Given the description of an element on the screen output the (x, y) to click on. 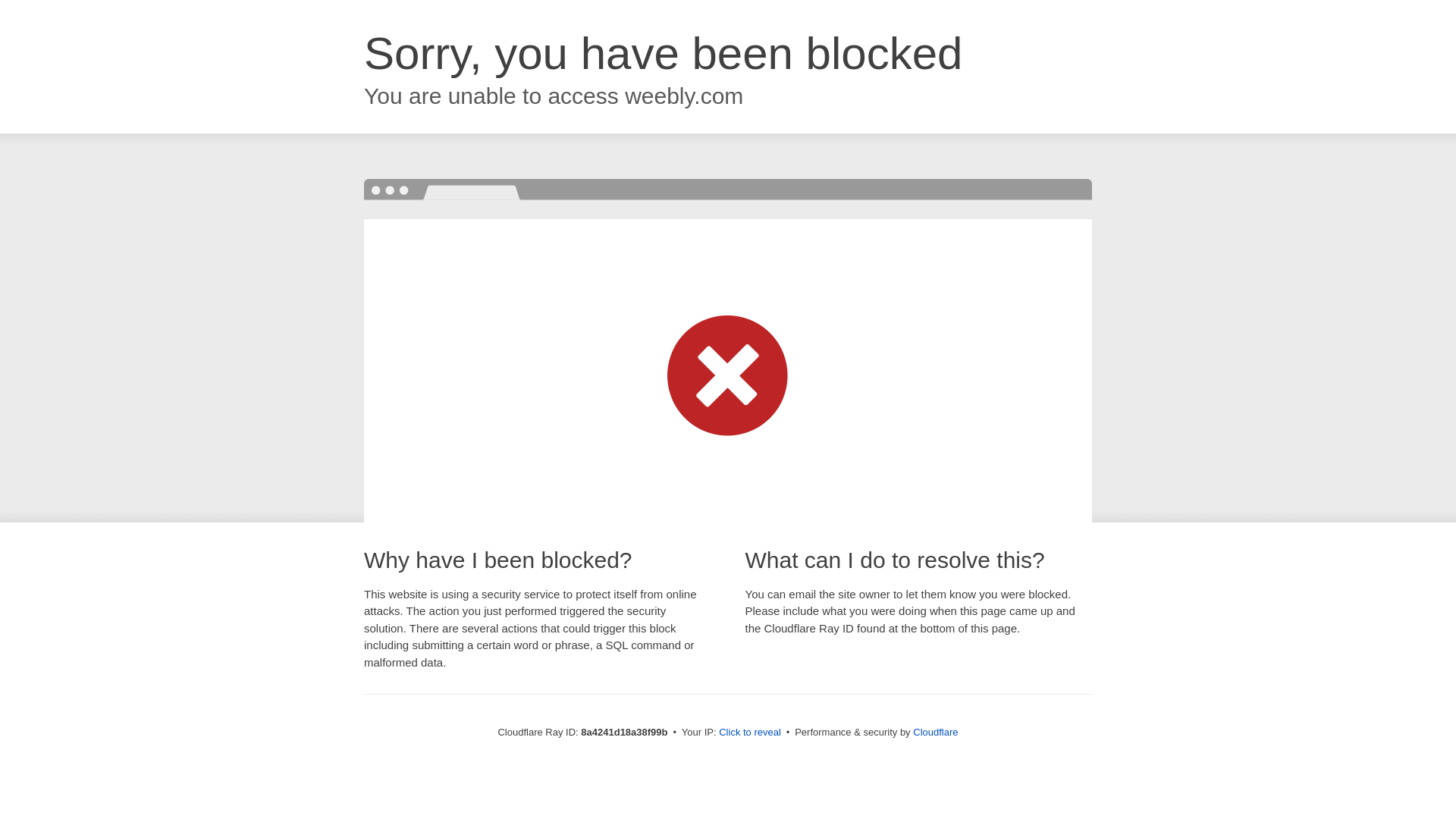
Click to reveal (749, 732)
Cloudflare (935, 731)
